Given the description of an element on the screen output the (x, y) to click on. 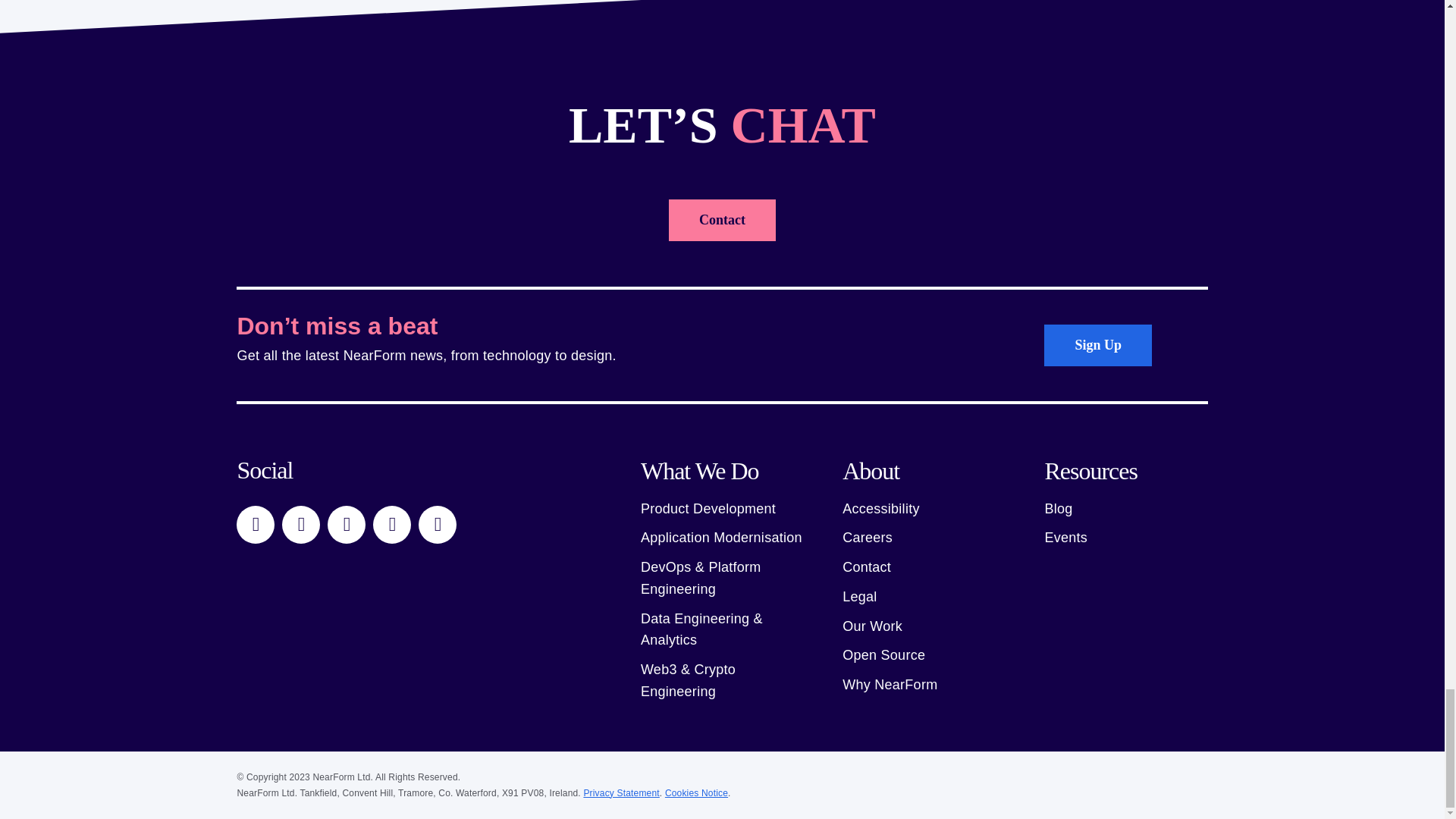
LinkedIn (255, 524)
Twitter (301, 524)
Facebook (346, 524)
